Given the description of an element on the screen output the (x, y) to click on. 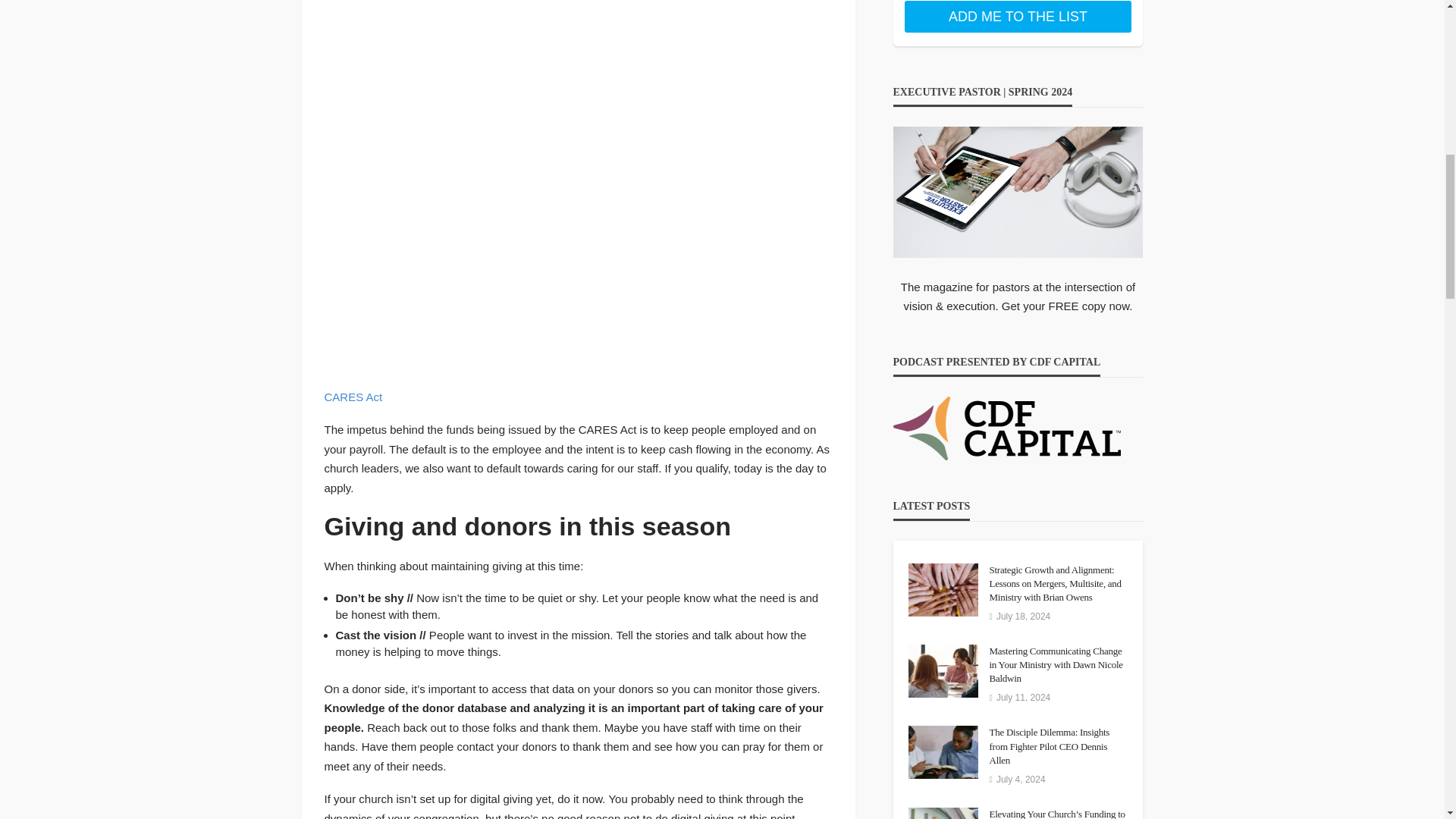
ADD ME TO THE LIST (1017, 16)
